Given the description of an element on the screen output the (x, y) to click on. 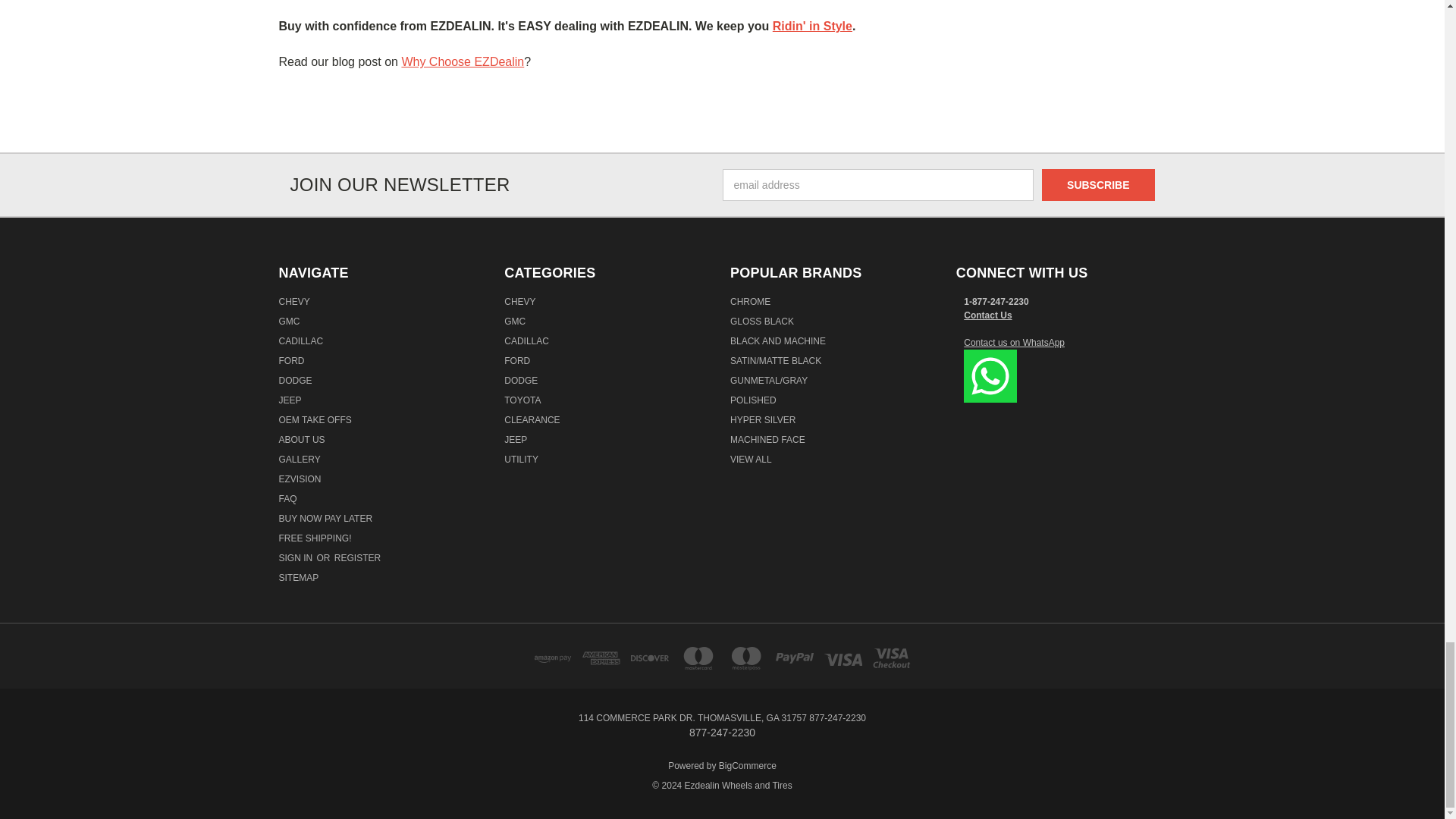
Subscribe (1098, 184)
